Given the description of an element on the screen output the (x, y) to click on. 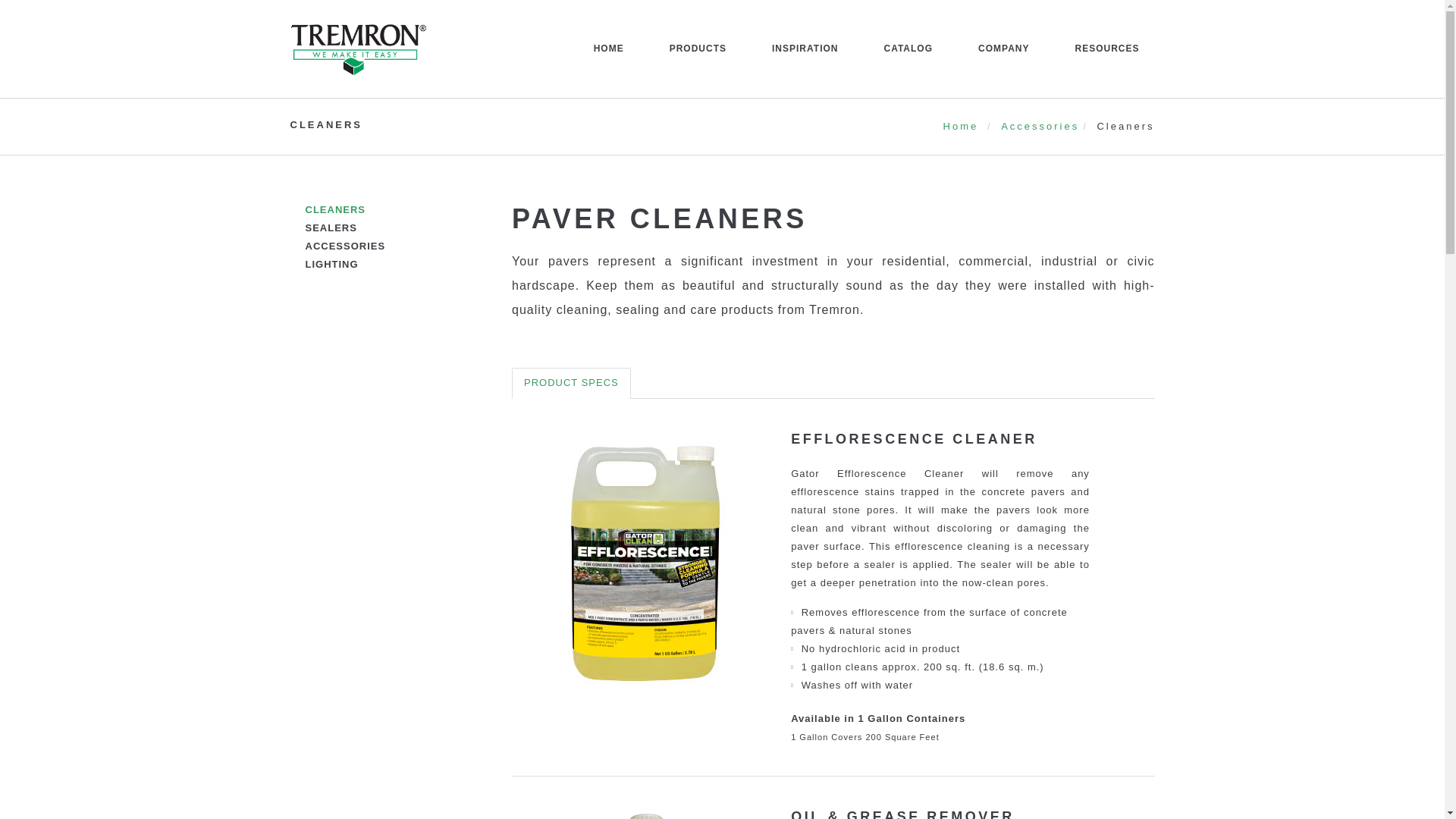
HOME (608, 63)
LiveChat chat widget (1355, 787)
CATALOG (907, 63)
INSPIRATION (805, 63)
Tremron Hardscapes (351, 48)
PRODUCTS (697, 63)
